Given the description of an element on the screen output the (x, y) to click on. 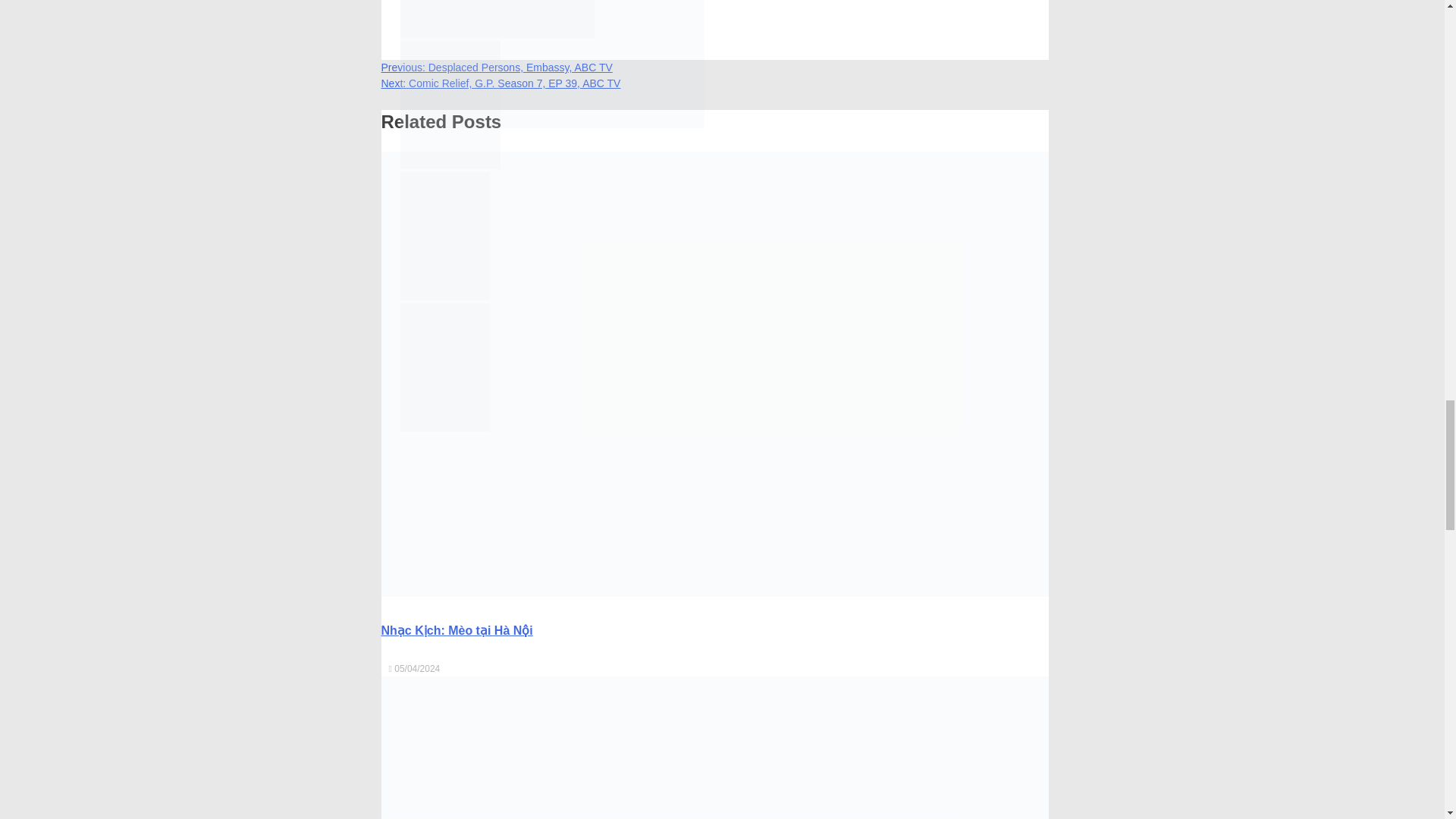
ea67db7a7a207b93bf466cfed030d4fe (497, 18)
